Given the description of an element on the screen output the (x, y) to click on. 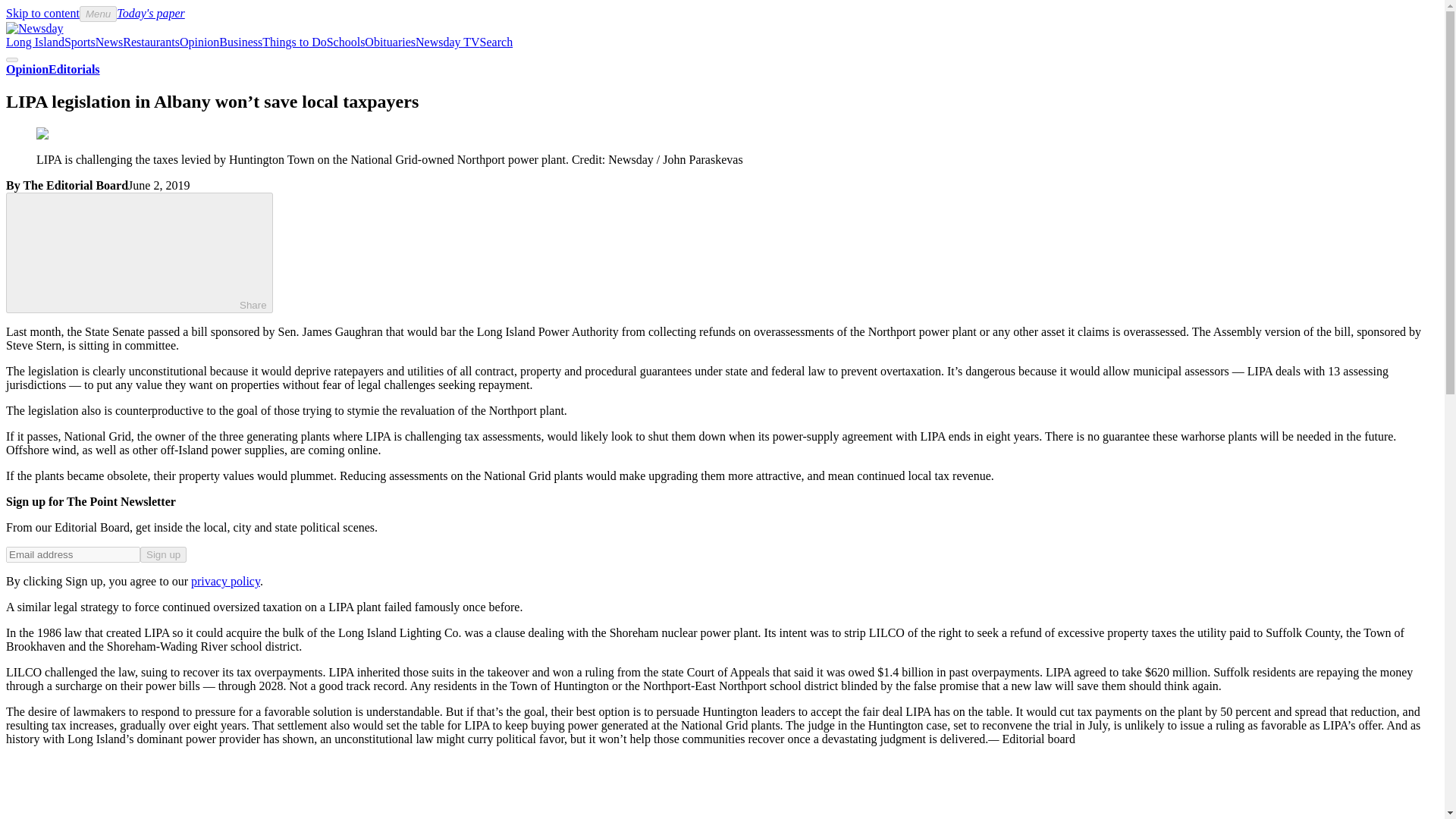
Long Island (34, 42)
News (109, 42)
Things to Do (294, 42)
Editorials (74, 69)
Share (139, 252)
Search (496, 42)
Sports (80, 42)
Menu (98, 13)
Skip to content (42, 12)
Restaurants (150, 42)
Obituaries (389, 42)
Schools (345, 42)
Opinion (199, 42)
Newsday TV (447, 42)
Business (240, 42)
